Given the description of an element on the screen output the (x, y) to click on. 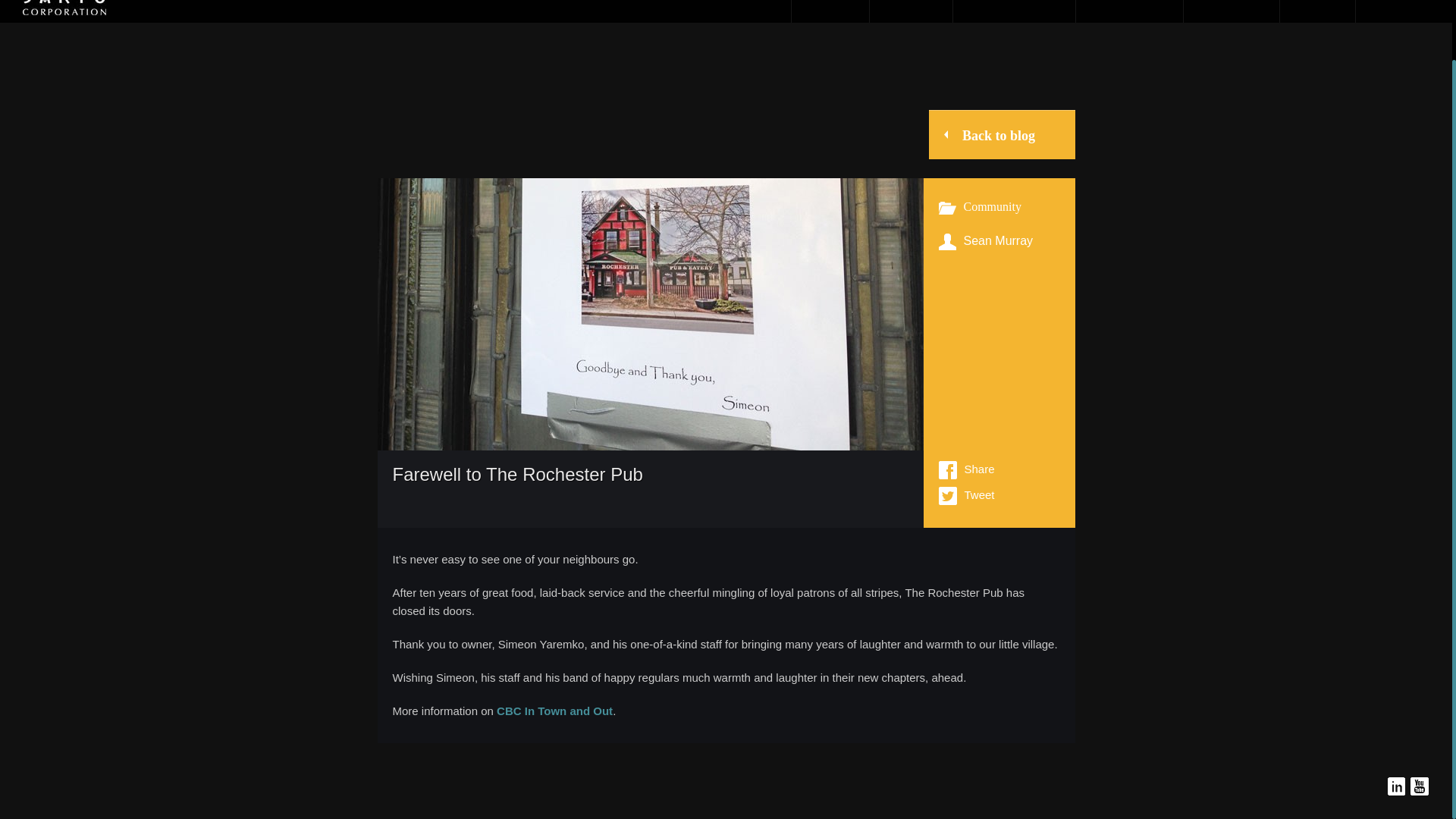
PORTFOLIO (1128, 11)
HOME (829, 11)
ABOUT (910, 11)
VACANCY (1230, 11)
CBC In Town and Out (554, 710)
BLOG (1317, 11)
SEAN MURRAY (1013, 11)
Share (966, 470)
Back to blog (1001, 133)
Tweet (966, 495)
